Given the description of an element on the screen output the (x, y) to click on. 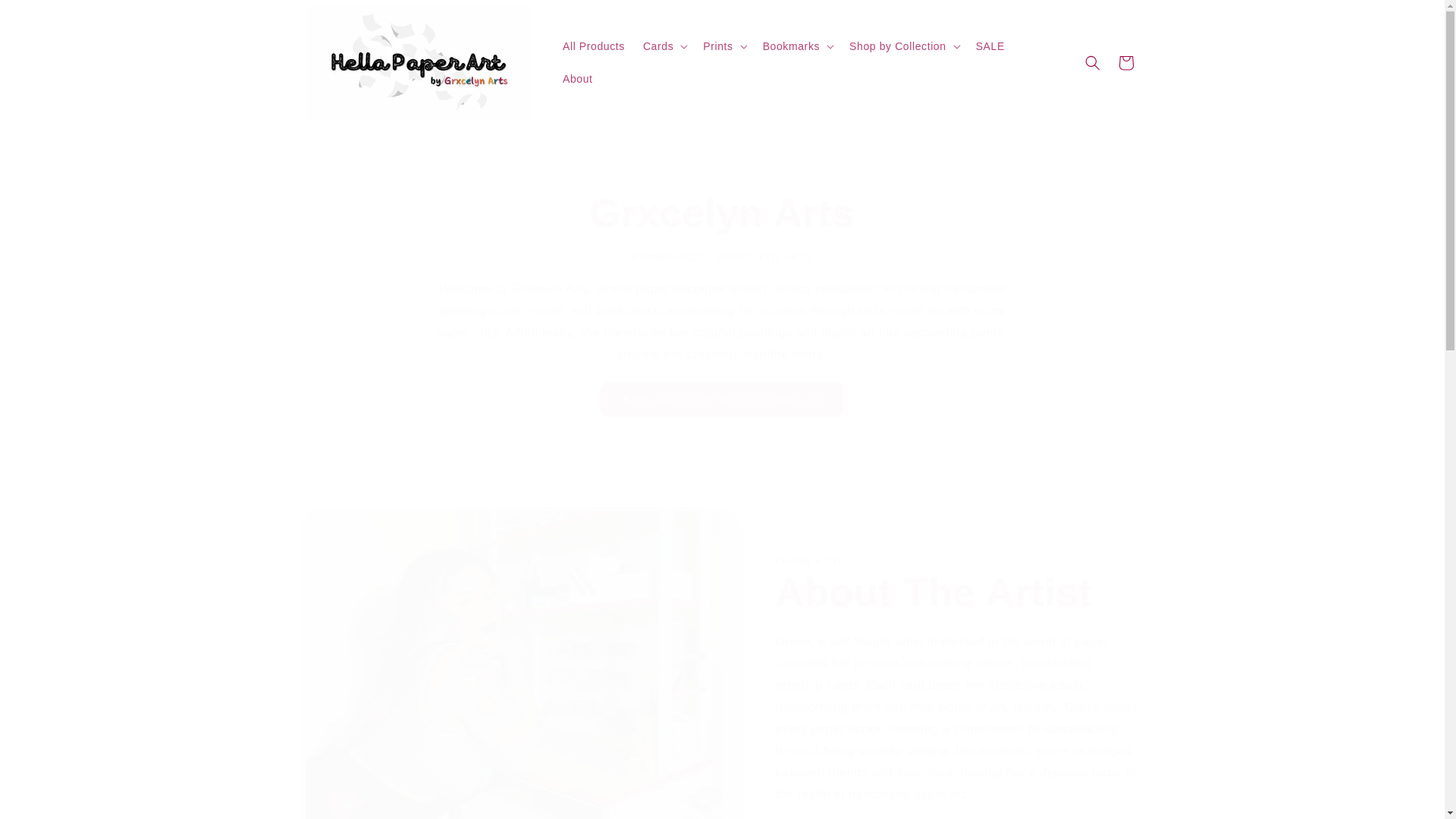
Grxcelyn Arts (721, 213)
Keep up to date on hella paper art (722, 398)
PRONOUNCED: GRACE-LYN ARTS (721, 257)
All Products (593, 46)
Skip to content (45, 17)
